Given the description of an element on the screen output the (x, y) to click on. 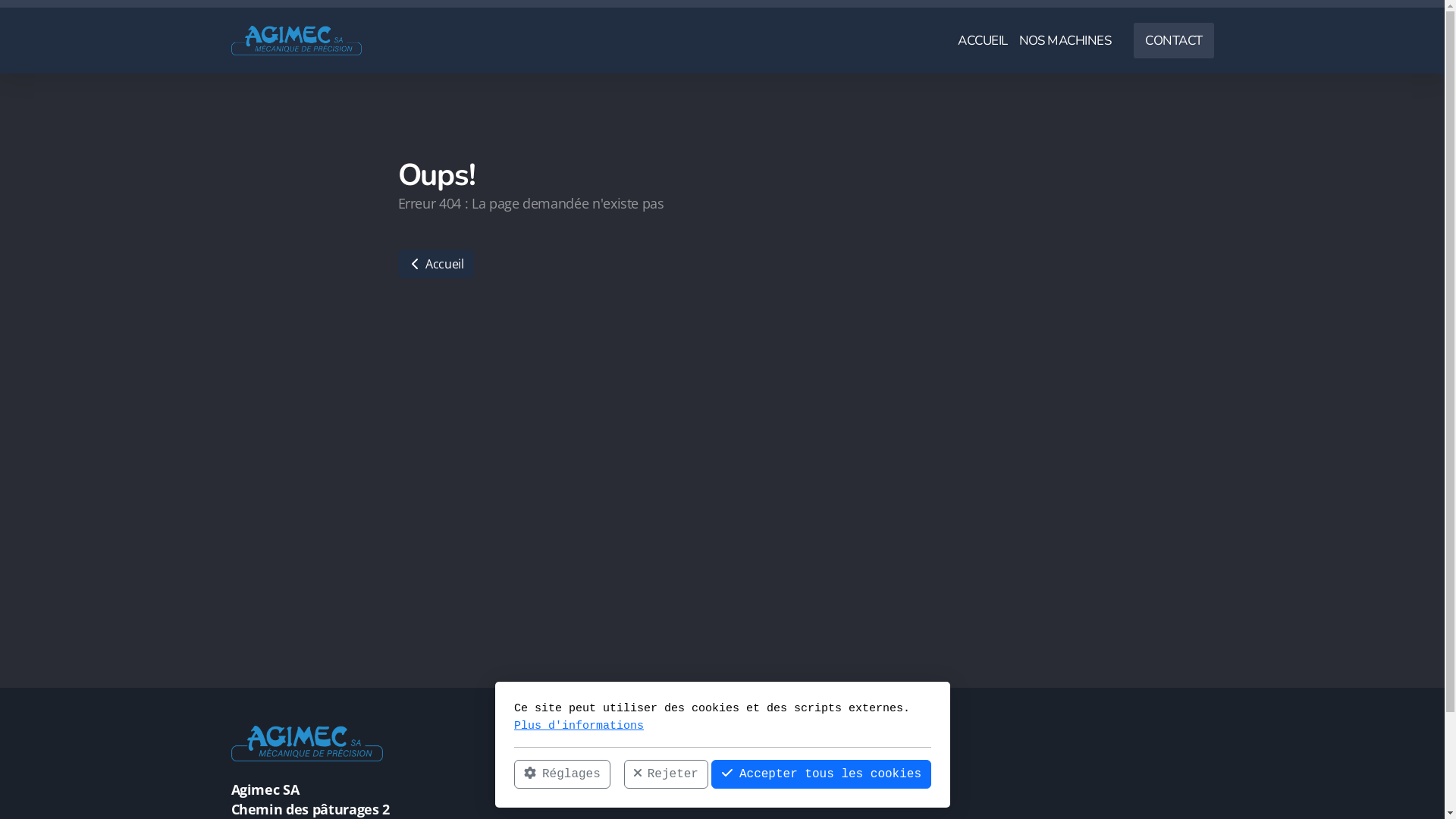
Accepter tous les cookies Element type: text (820, 773)
Plus d'informations Element type: text (578, 724)
ACCUEIL Element type: text (982, 40)
CONTACT Element type: text (1173, 40)
Accueil Element type: text (435, 263)
Accueil Element type: text (586, 758)
Conditions d'utilisation Element type: text (799, 758)
Nos machines Element type: text (608, 779)
Rejeter Element type: text (665, 773)
NOS MACHINES Element type: text (1065, 40)
Contact Element type: text (587, 799)
